Given the description of an element on the screen output the (x, y) to click on. 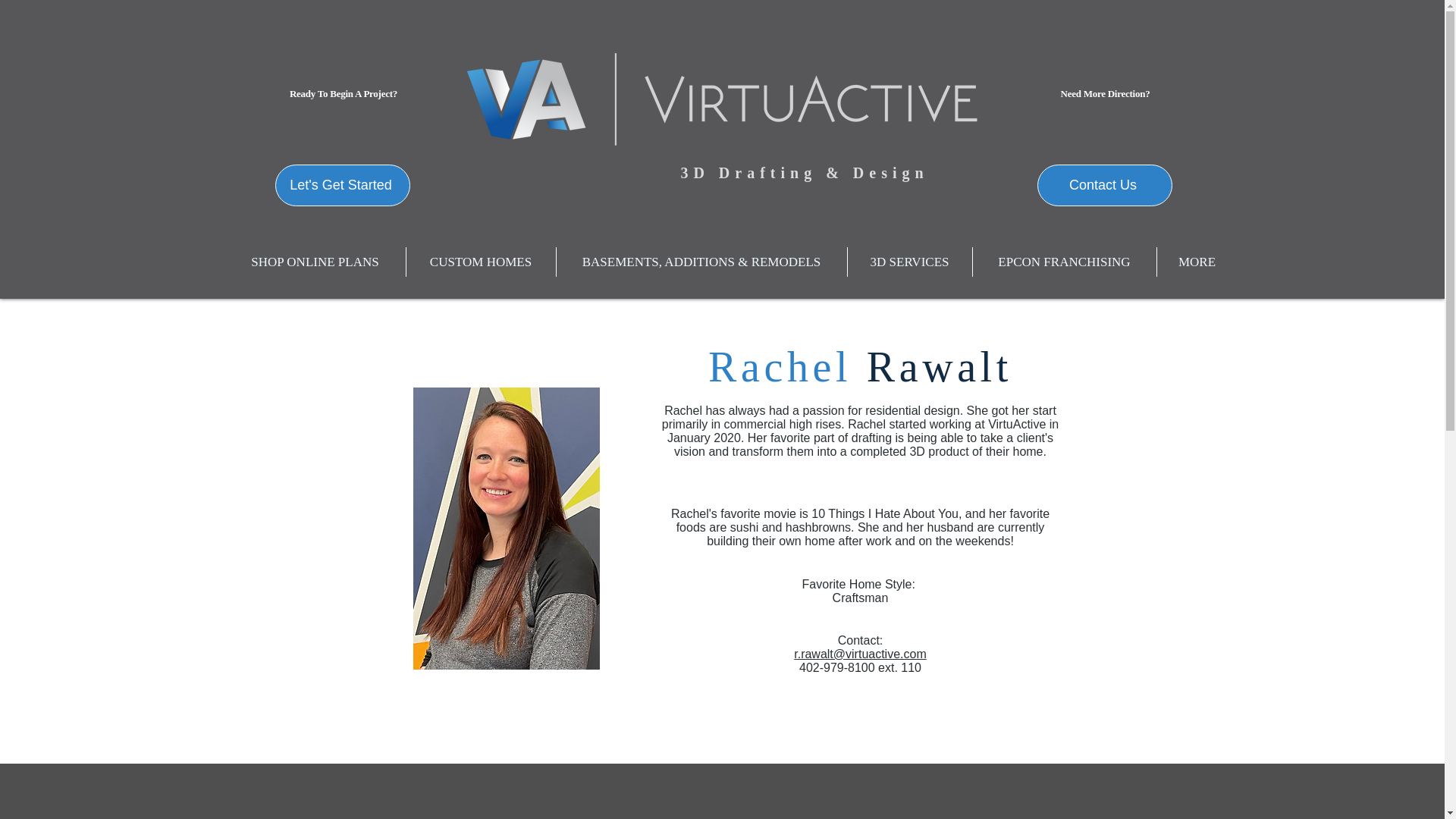
3D SERVICES (909, 261)
MORE (1197, 261)
SHOP ONLINE PLANS (314, 261)
Let's Get Started (342, 185)
EPCON FRANCHISING (1064, 261)
Contact Us (1104, 185)
CUSTOM HOMES (481, 261)
